Given the description of an element on the screen output the (x, y) to click on. 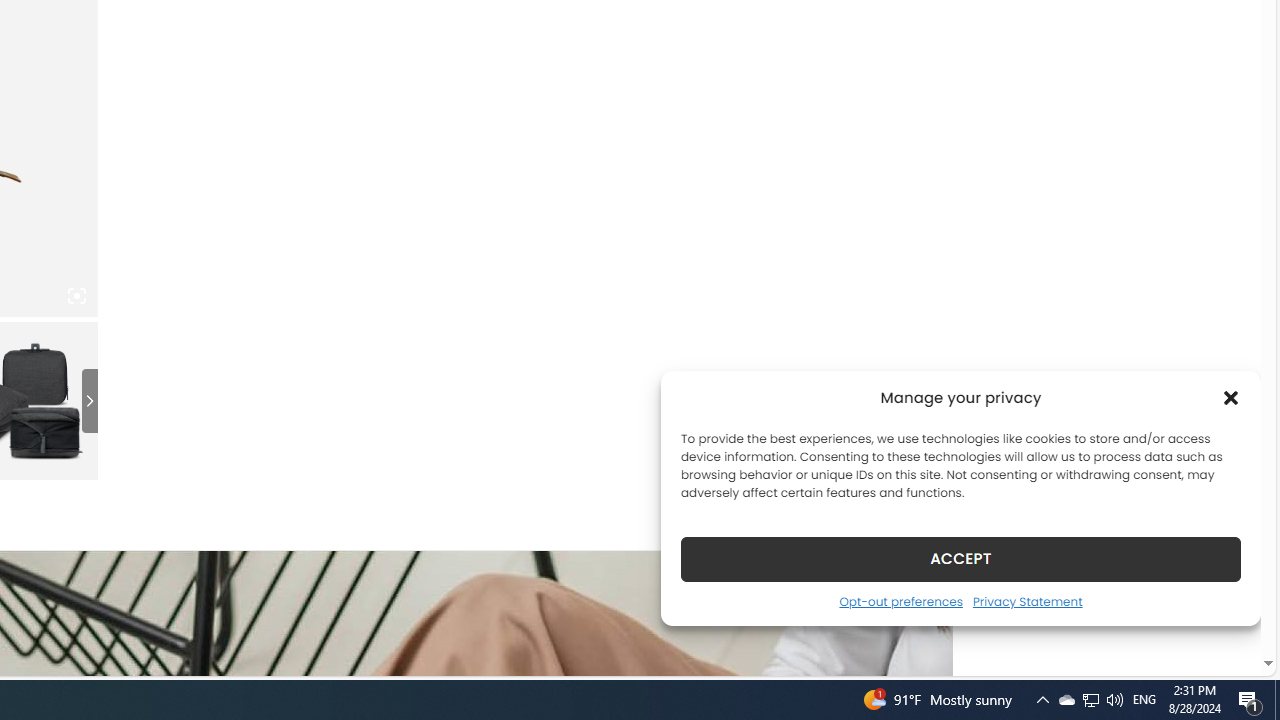
ACCEPT (960, 558)
Privacy Statement (1026, 601)
Class: cmplz-close (1231, 397)
Class: iconic-woothumbs-fullscreen (75, 296)
Opt-out preferences (900, 601)
